Given the description of an element on the screen output the (x, y) to click on. 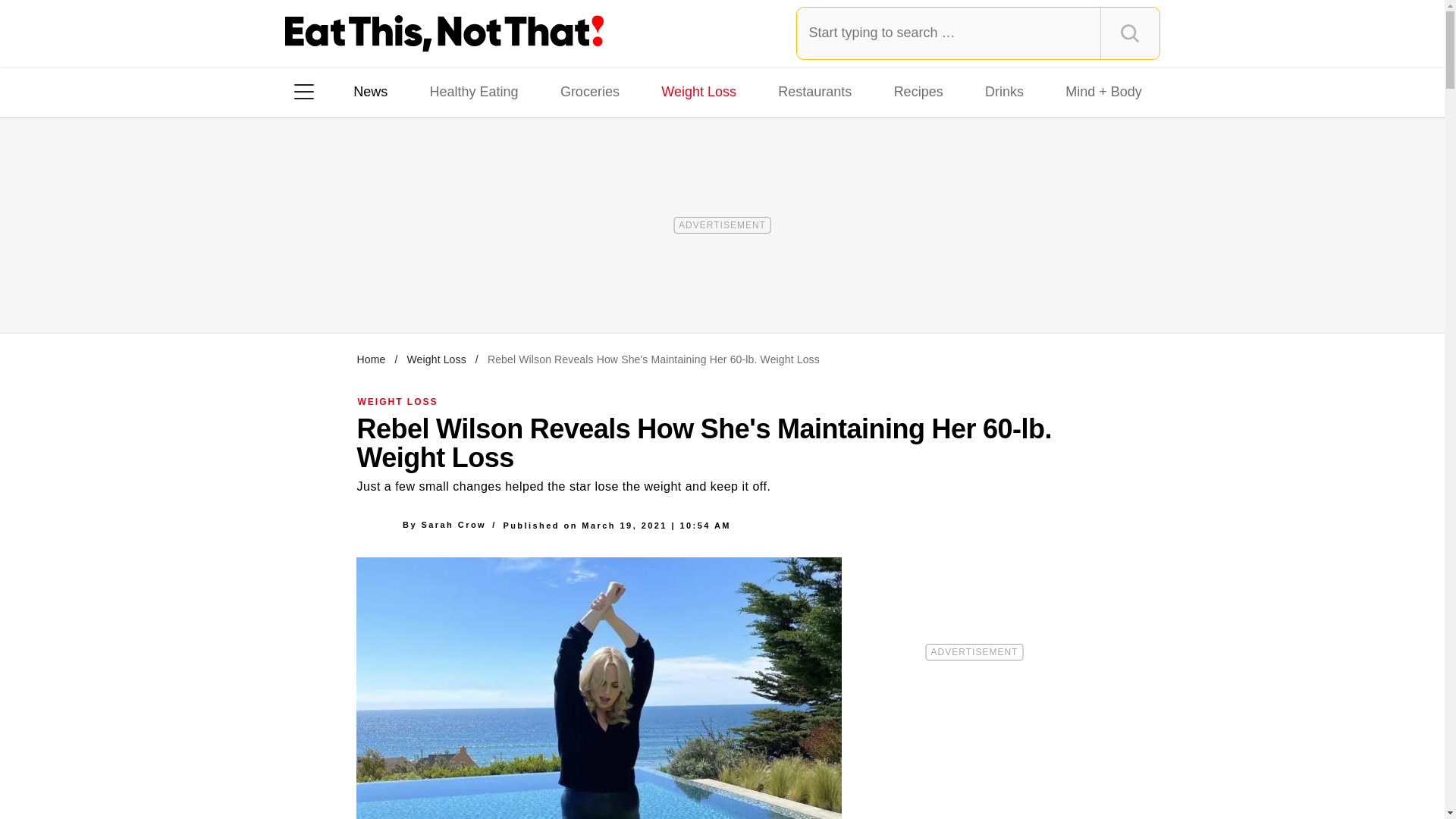
Type and press Enter to search (978, 32)
Weight Loss (435, 358)
Healthy Eating (473, 91)
Facebook (314, 287)
Restaurants (814, 91)
Groceries (590, 91)
Pinterest (443, 287)
Sarah Crow (453, 524)
Instagram (357, 287)
TikTok (399, 287)
Eat This Not That Homepage (444, 33)
Facebook (314, 287)
Pinterest (443, 287)
Recipes (918, 91)
Weight Loss (698, 91)
